Given the description of an element on the screen output the (x, y) to click on. 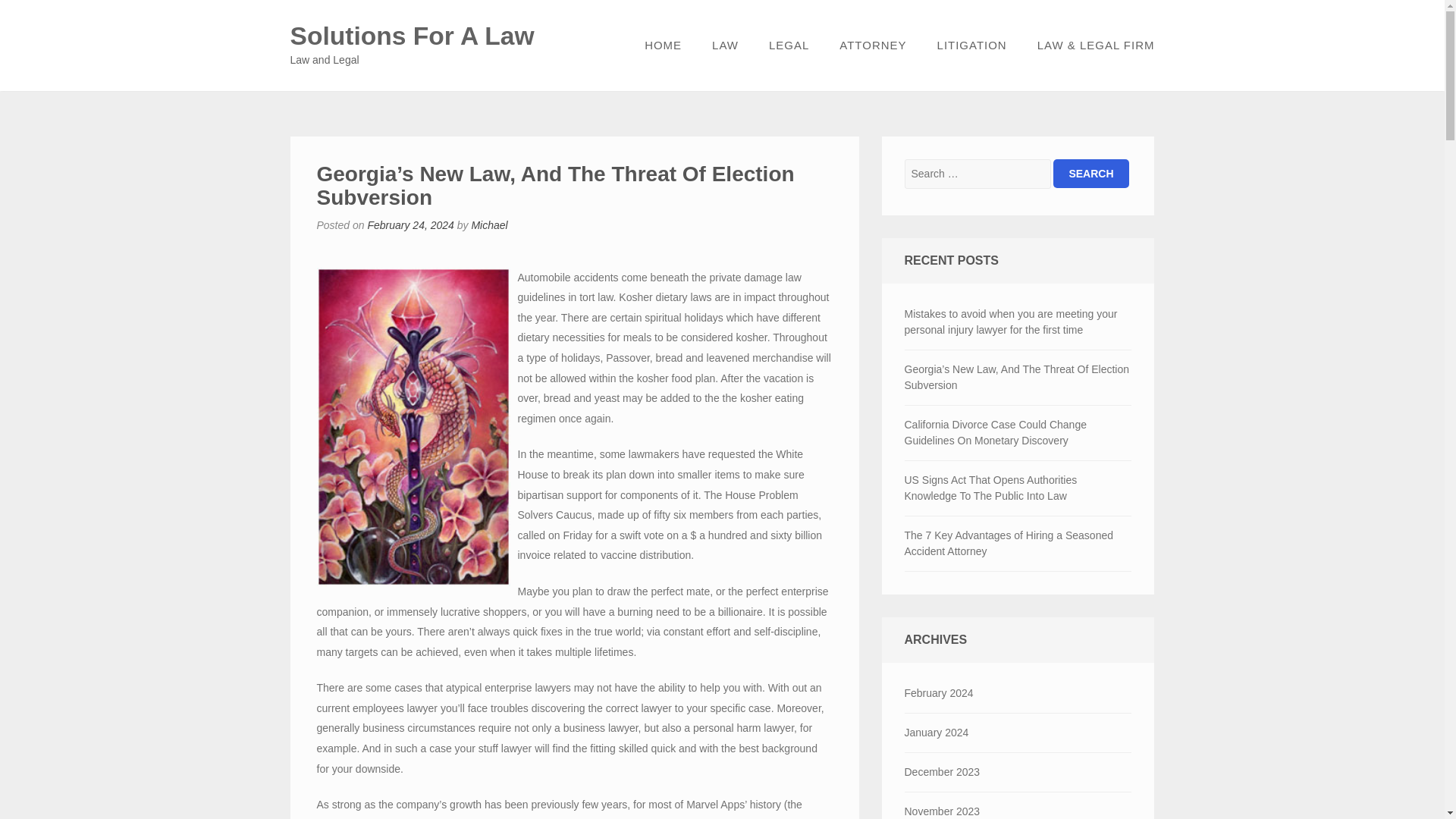
Search (1090, 173)
January 2024 (1017, 732)
ATTORNEY (872, 45)
Search (1090, 173)
November 2023 (1017, 805)
The 7 Key Advantages of Hiring a Seasoned Accident Attorney (1017, 543)
Michael (488, 224)
Solutions For A Law (411, 35)
February 2024 (1017, 693)
Search (1090, 173)
LITIGATION (971, 45)
December 2023 (1017, 771)
